Given the description of an element on the screen output the (x, y) to click on. 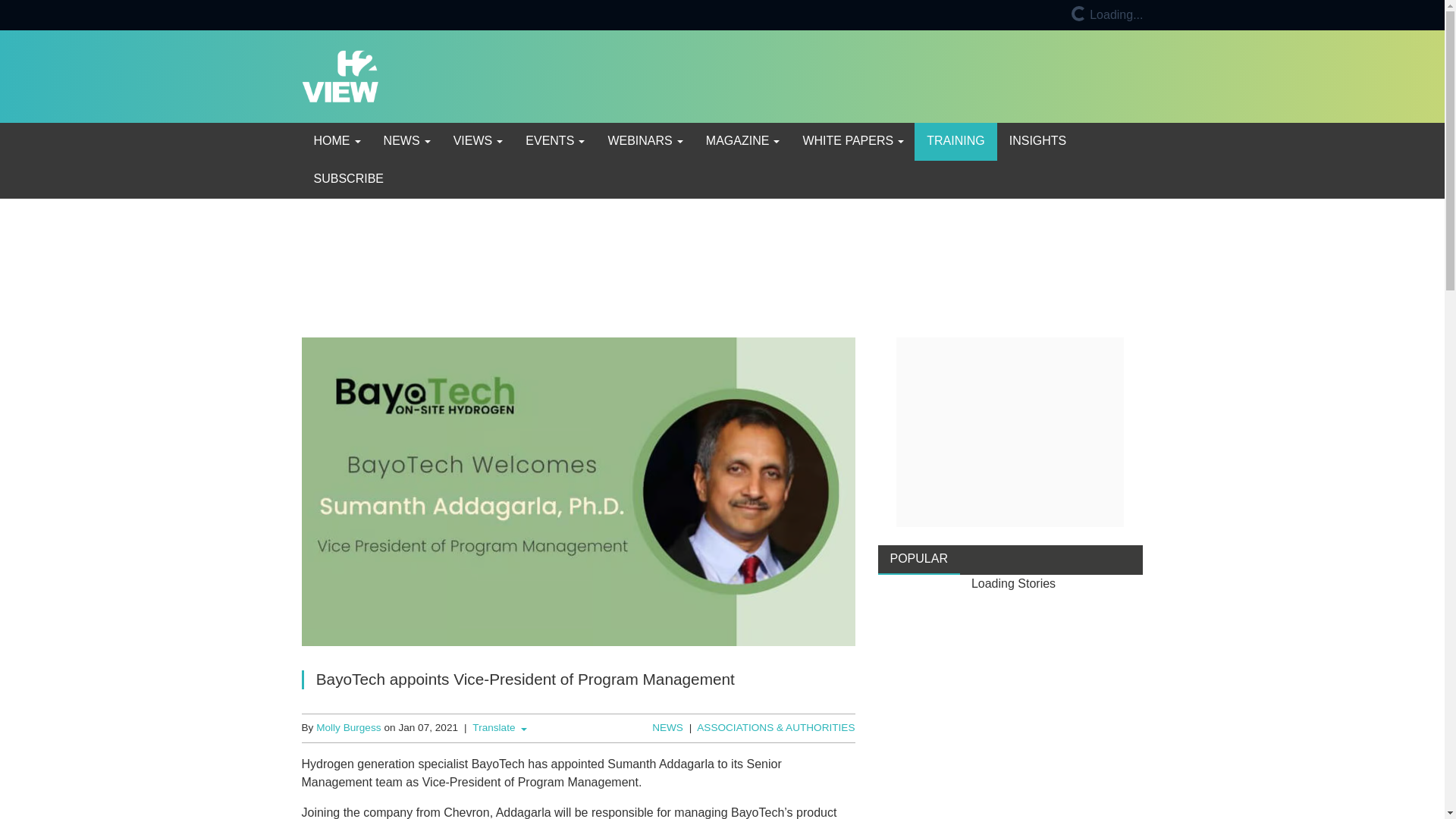
H2 View (339, 74)
News (406, 140)
Home (336, 140)
VIEWS (477, 140)
HOME (336, 140)
NEWS (406, 140)
